Given the description of an element on the screen output the (x, y) to click on. 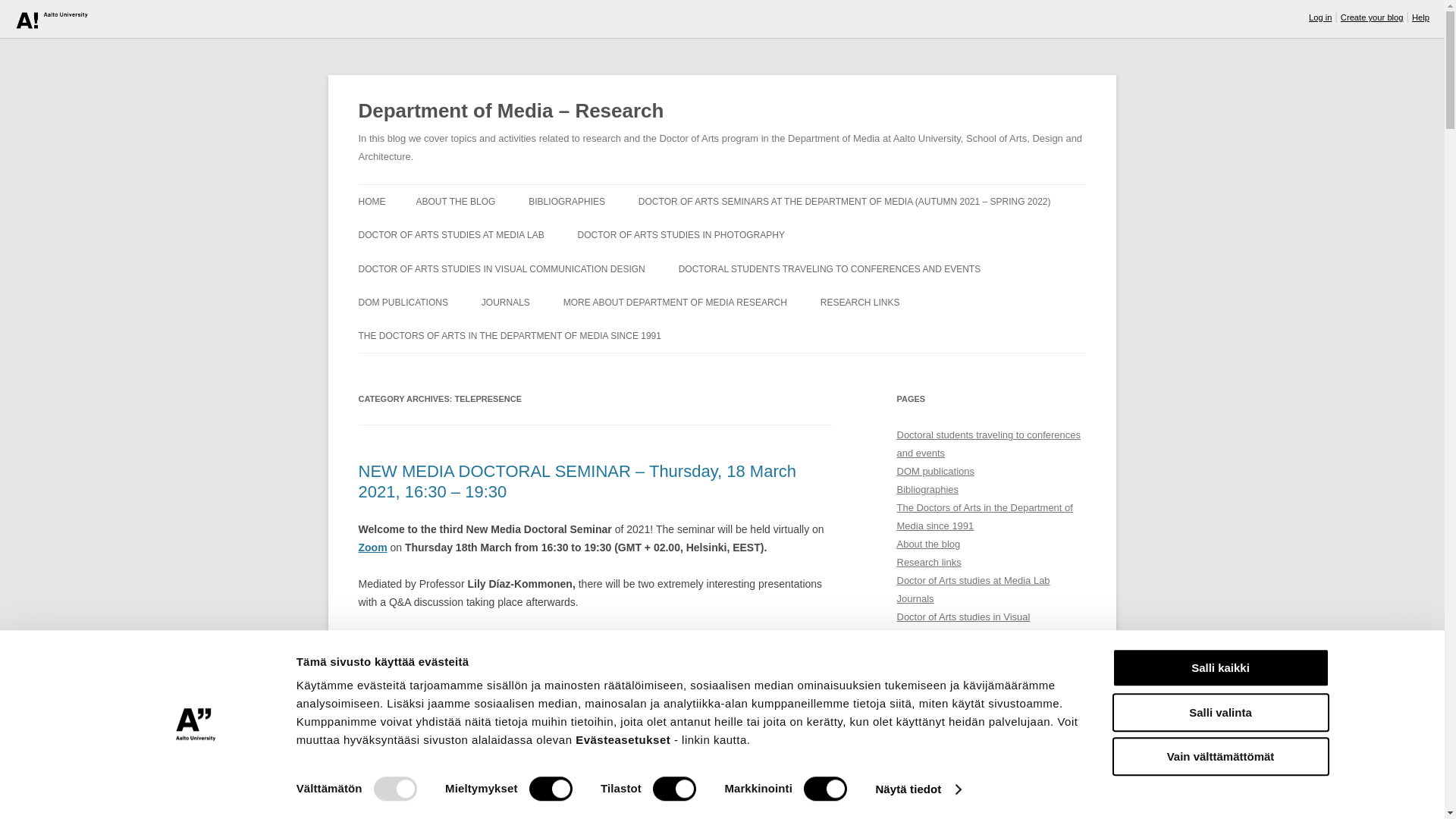
Salli kaikki (1219, 667)
Salli valinta (1219, 712)
Help (1420, 17)
Create your blog (1371, 17)
Log in (1320, 17)
